Given the description of an element on the screen output the (x, y) to click on. 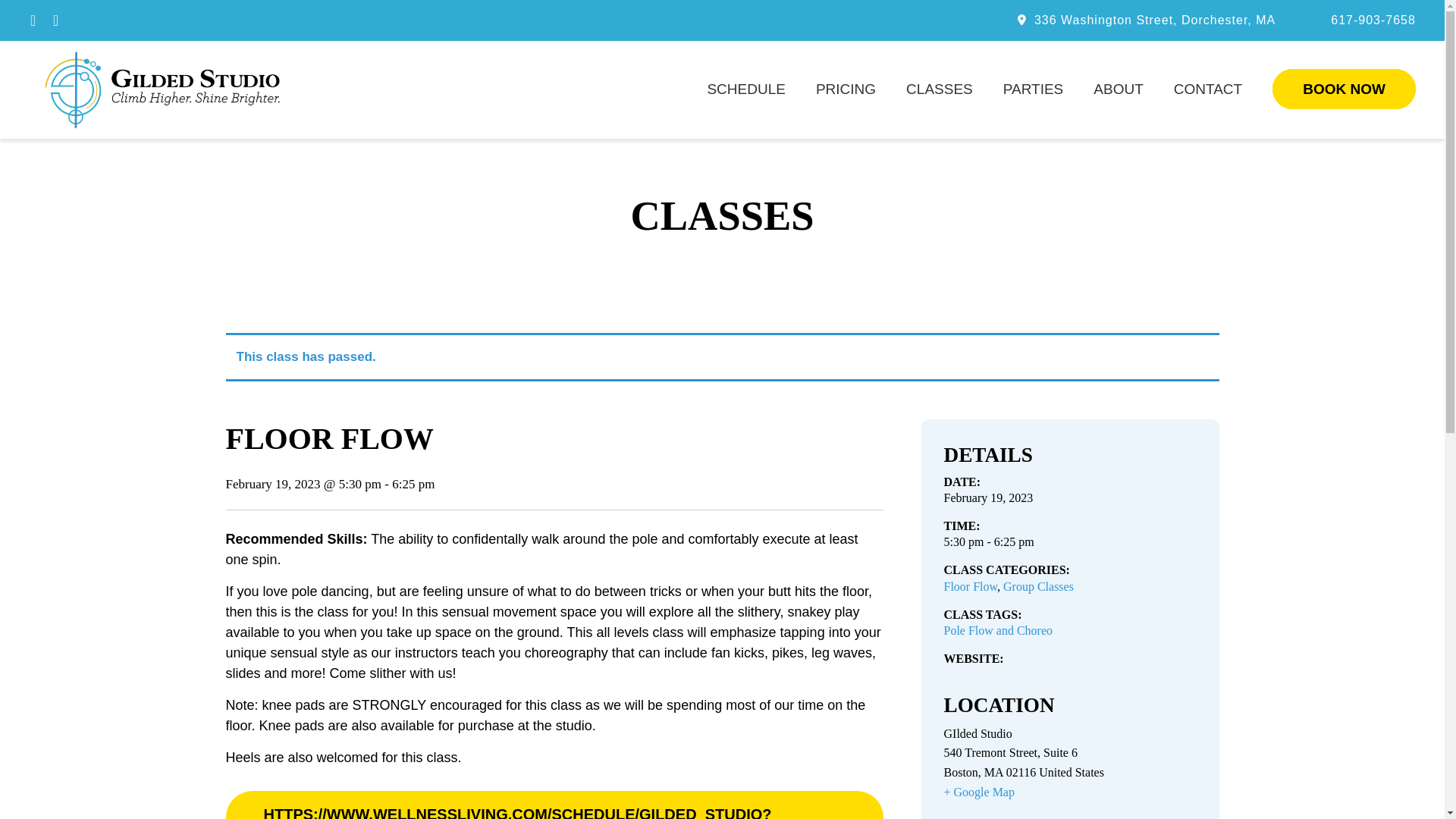
PRICING (845, 89)
CLASSES (938, 89)
CONTACT (1207, 89)
Instagram (55, 20)
2023-02-19 (987, 497)
Facebook (33, 20)
2023-02-19 (1069, 542)
BOOK NOW (1343, 89)
Massachusetts (993, 771)
336 Washington Street, Dorchester, MA (1154, 19)
Click to view a Google Map (1069, 792)
ABOUT (1117, 89)
SCHEDULE (745, 89)
PARTIES (1033, 89)
617-903-7658 (1369, 19)
